Given the description of an element on the screen output the (x, y) to click on. 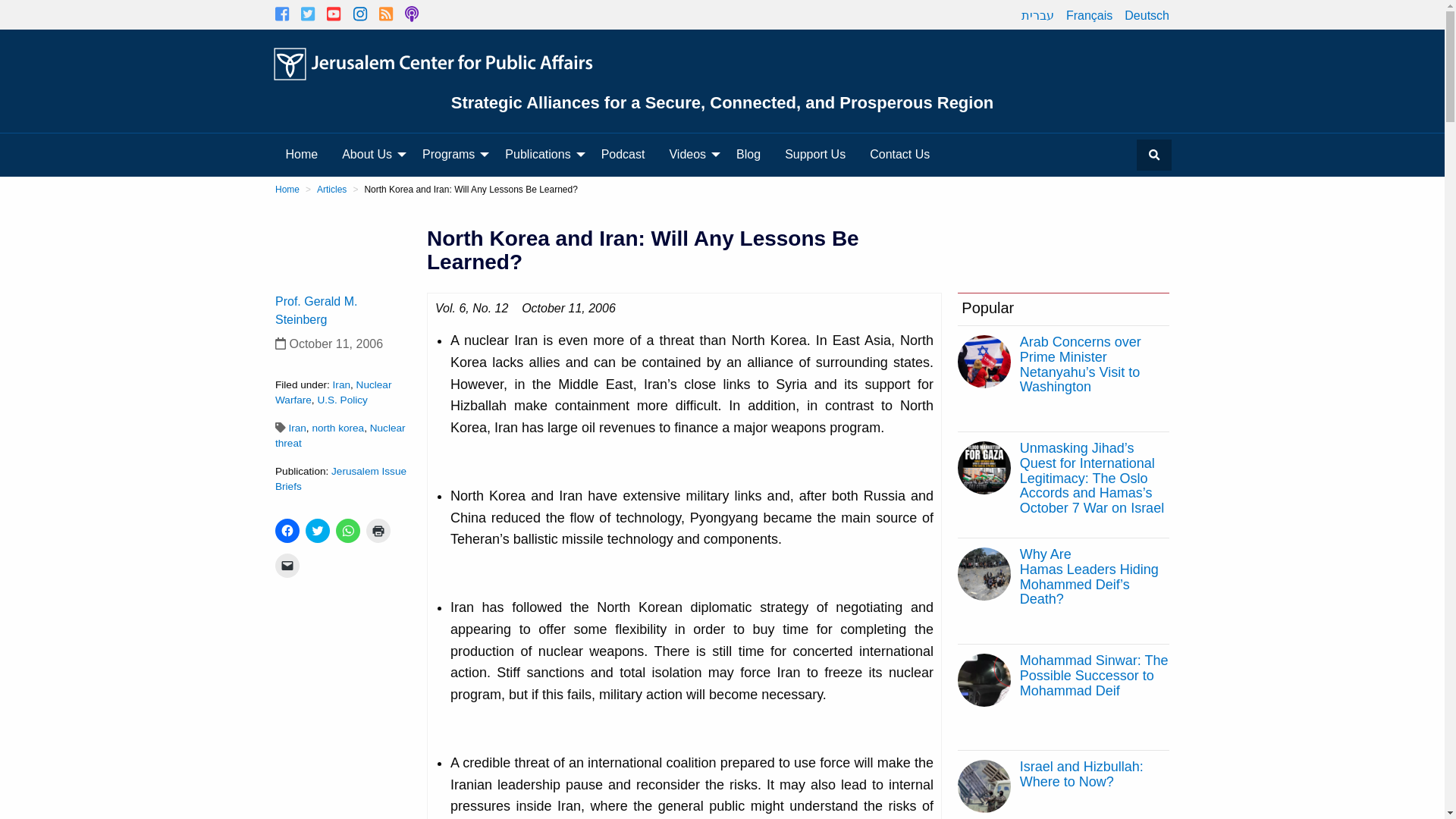
Twitter (307, 13)
Click to share on WhatsApp (347, 530)
Home (301, 154)
Search (1153, 154)
Podcast (411, 13)
About Us (370, 154)
Facebook (281, 13)
Click to email a link to a friend (287, 565)
YouTube (333, 13)
Programs (451, 154)
Deutsch (1146, 15)
Click to share on Facebook (287, 530)
Click to print (378, 530)
Click to share on Twitter (317, 530)
RSS (385, 13)
